Given the description of an element on the screen output the (x, y) to click on. 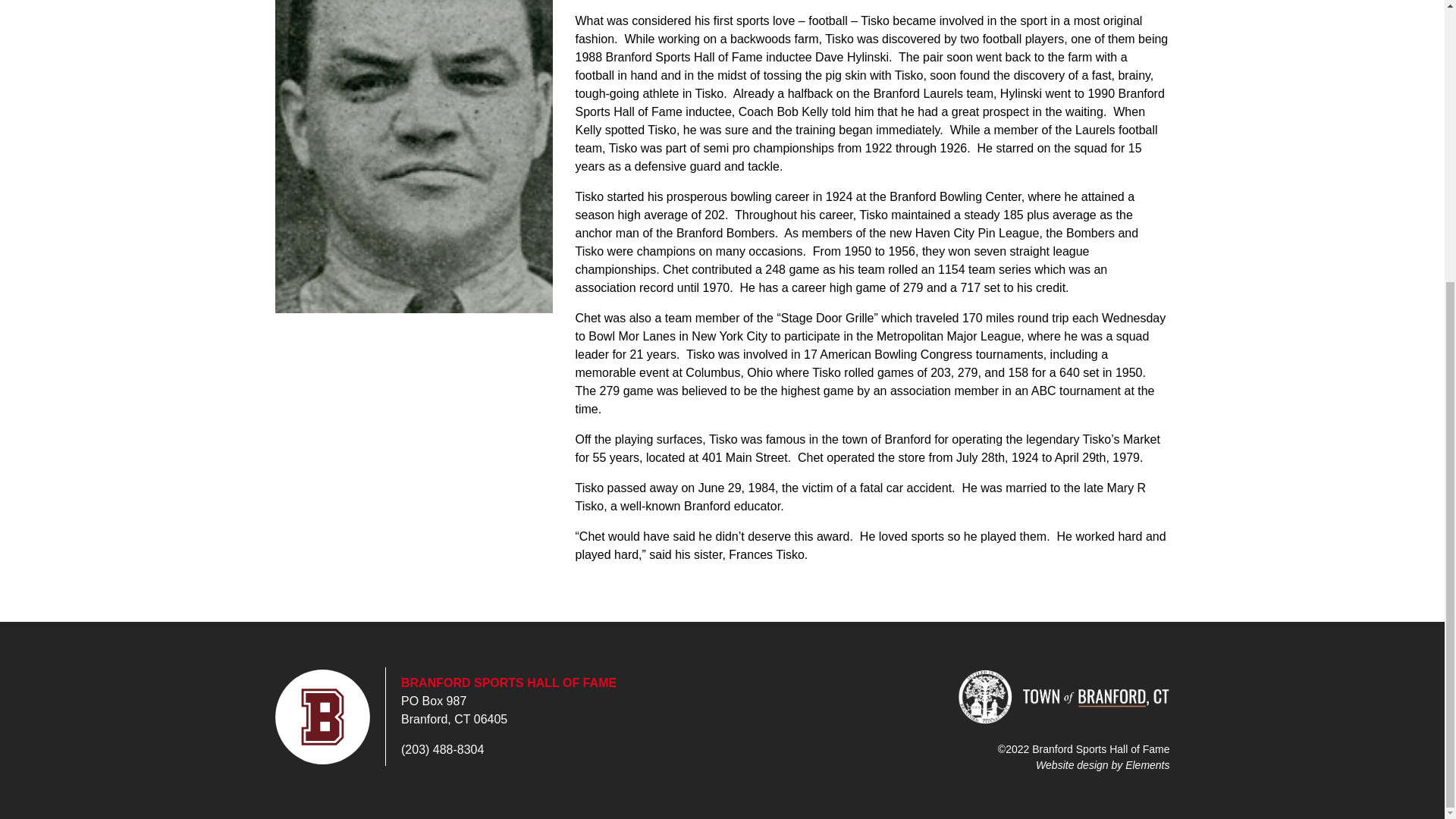
Elements (1147, 764)
